Given the description of an element on the screen output the (x, y) to click on. 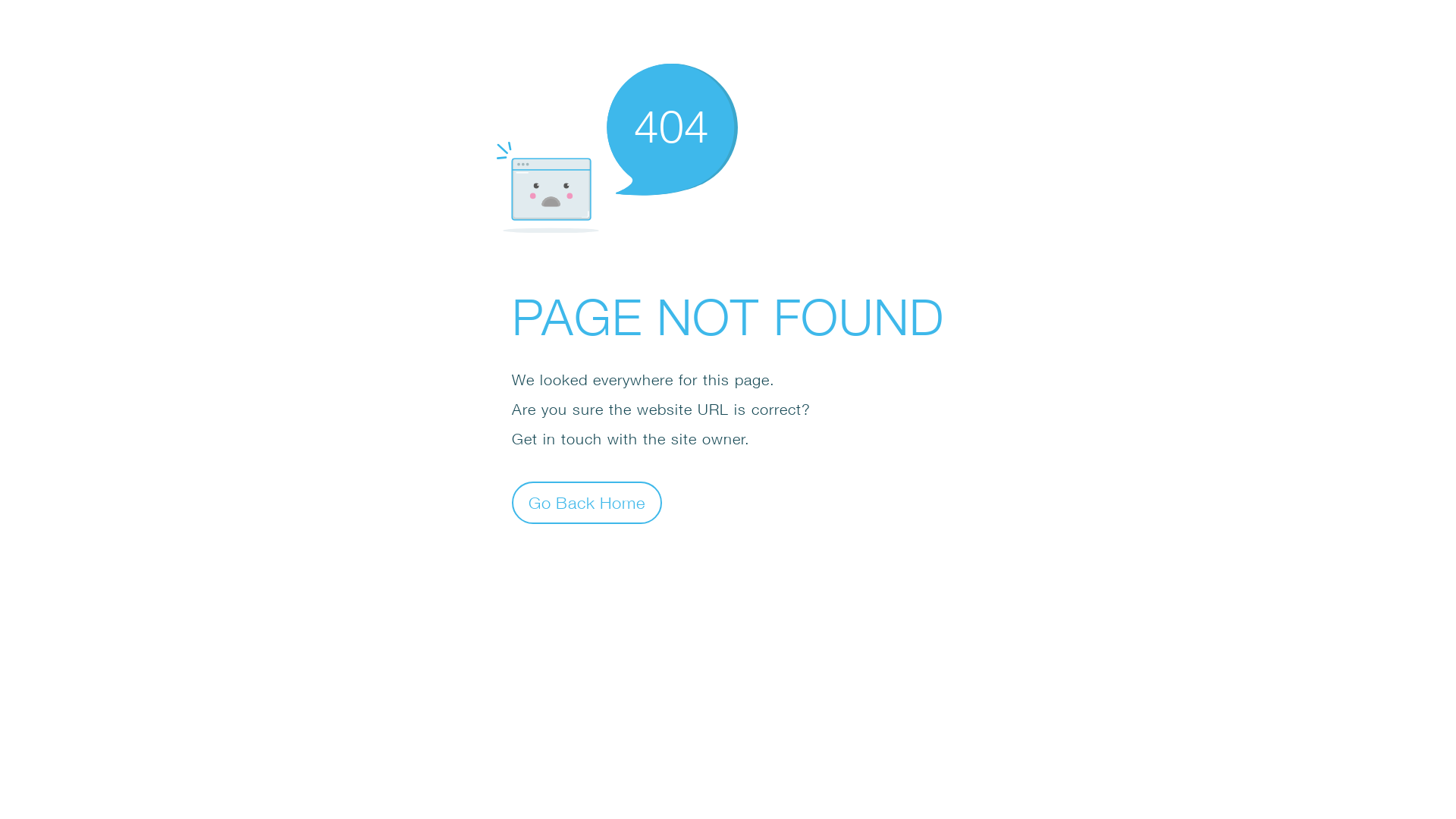
Go Back Home Element type: text (586, 502)
